Given the description of an element on the screen output the (x, y) to click on. 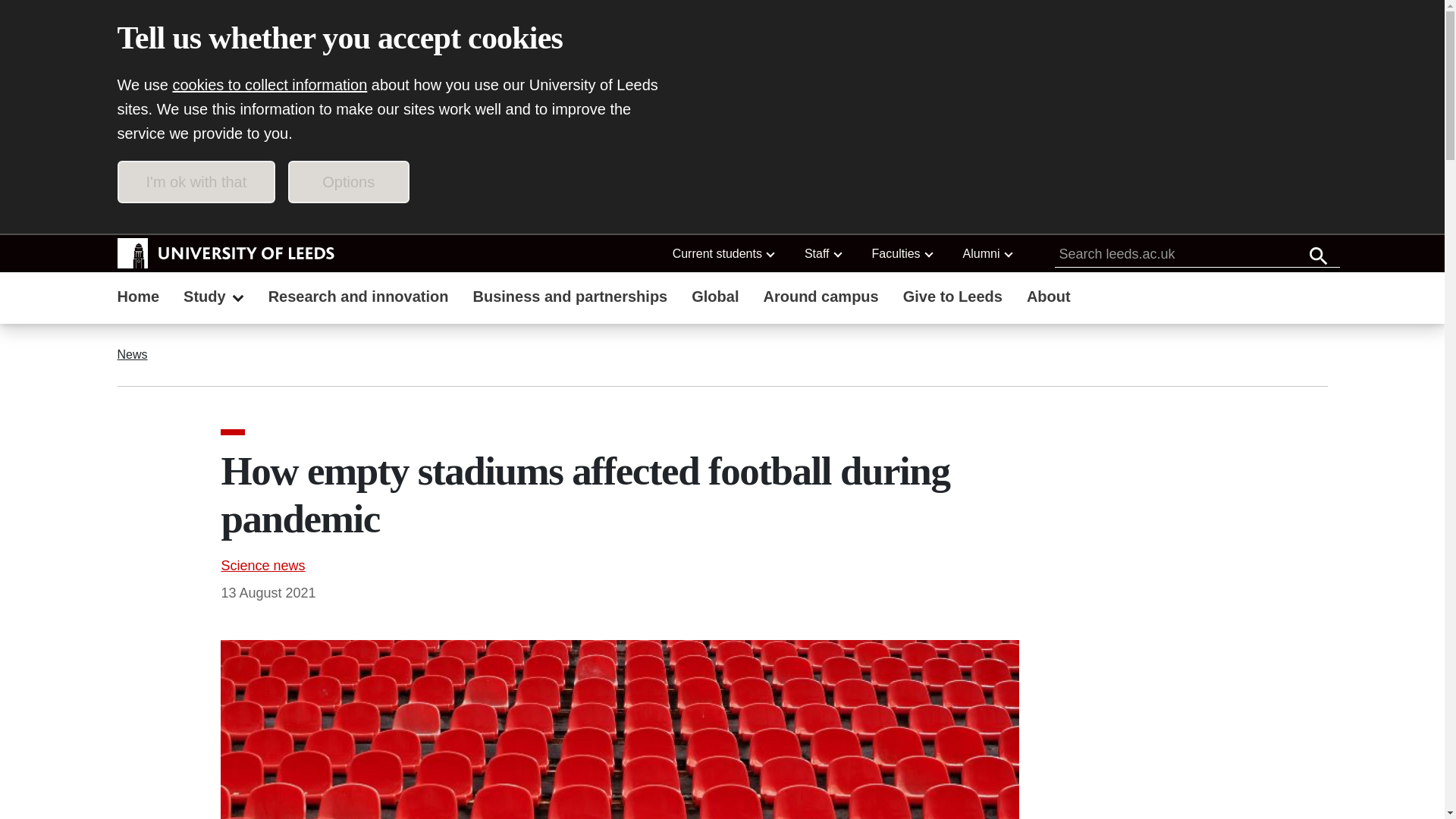
Global (715, 297)
Alumni (986, 253)
Business and partnerships (569, 297)
Study (213, 297)
Options (348, 181)
cookies to collect information (270, 84)
Research and innovation (358, 297)
I'm ok with that (195, 181)
Faculties (902, 253)
Skip to main content (202, 216)
Home (137, 297)
Staff (822, 253)
Current students (723, 253)
